Given the description of an element on the screen output the (x, y) to click on. 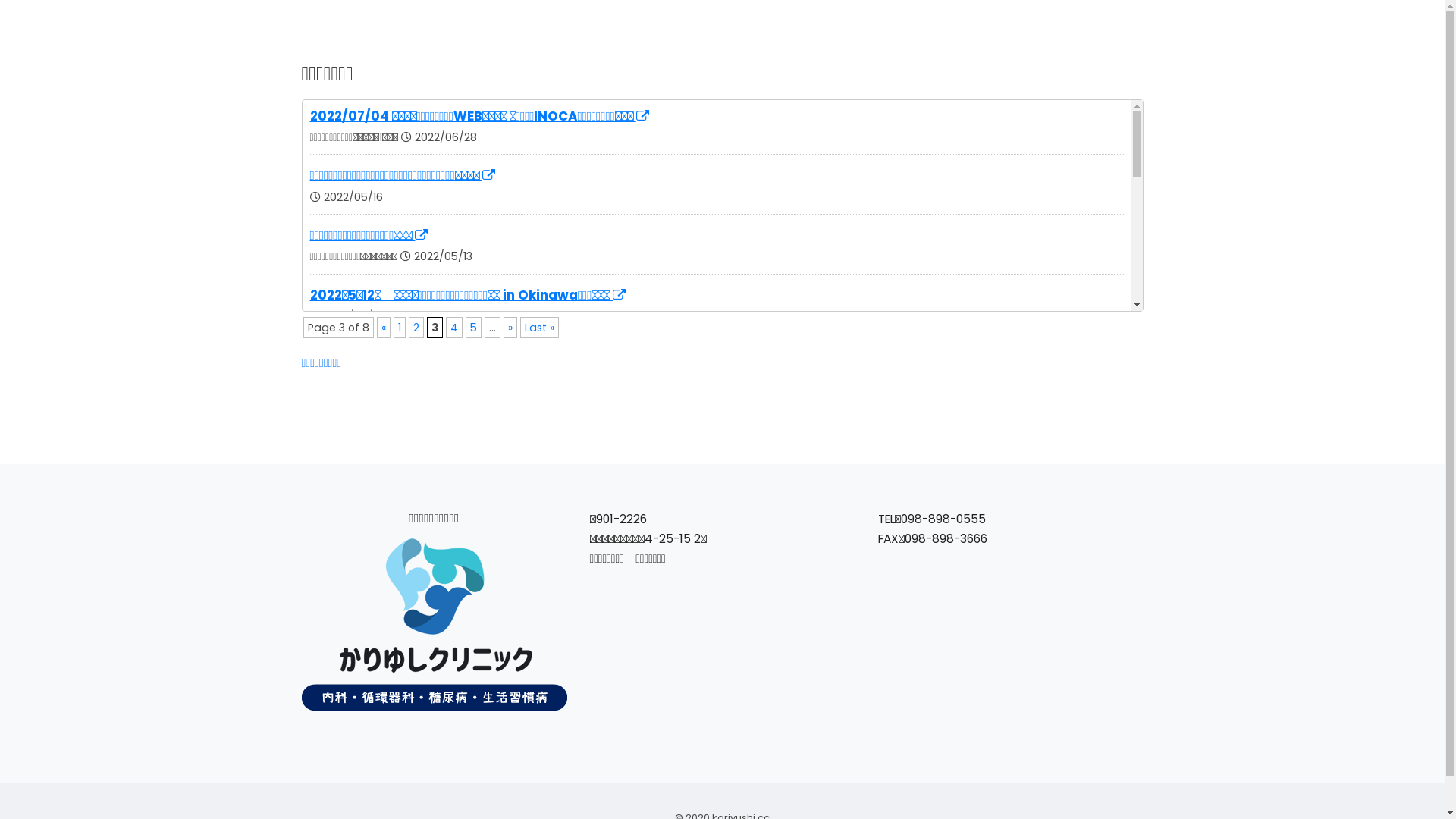
5 Element type: text (473, 327)
4 Element type: text (453, 327)
1 Element type: text (398, 327)
2 Element type: text (415, 327)
